Given the description of an element on the screen output the (x, y) to click on. 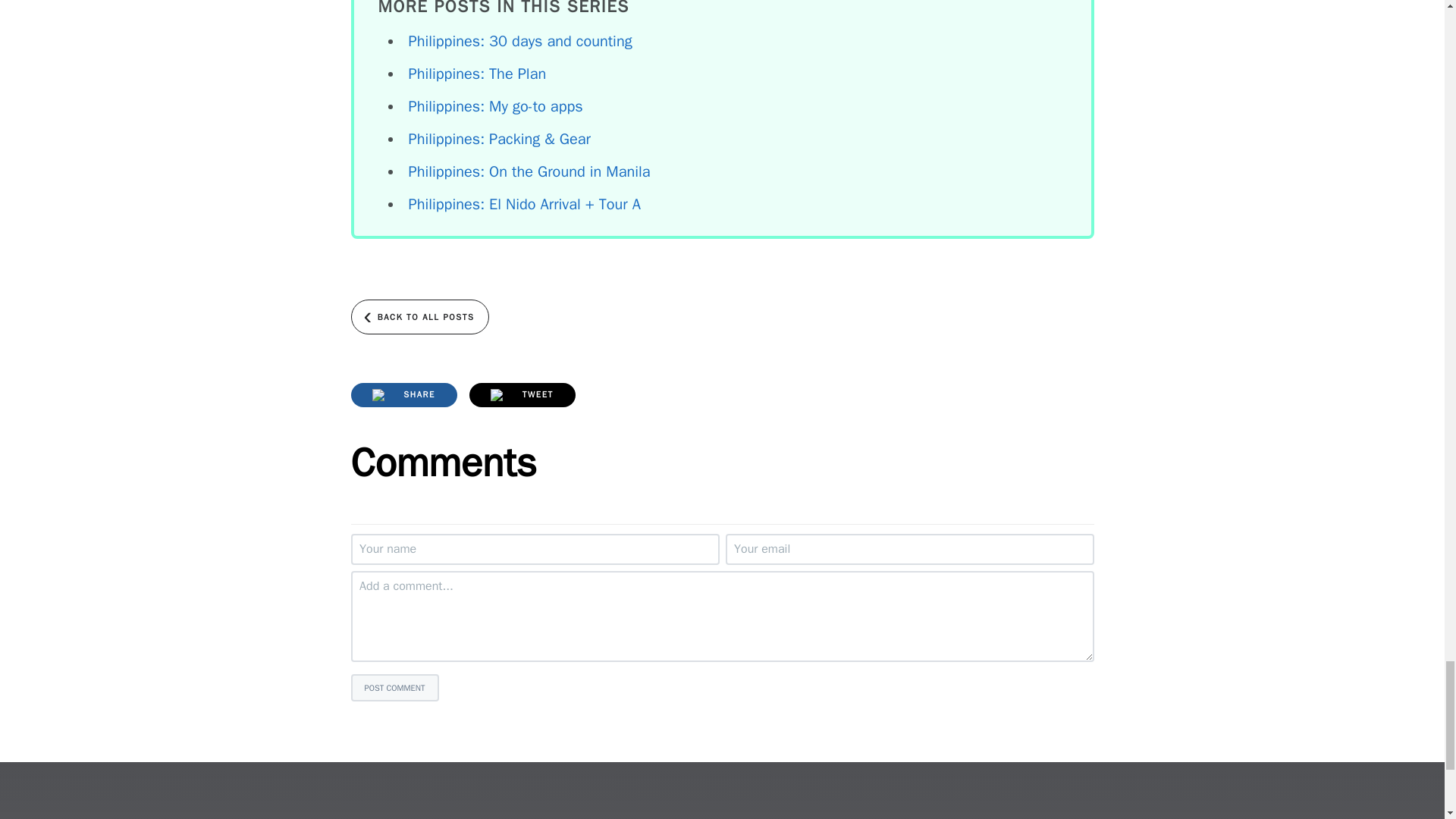
Philippines: My go-to apps (494, 106)
Philippines: 30 days and counting (519, 40)
Philippines: The Plan (476, 73)
BACK TO ALL POSTS (418, 316)
TWEET (521, 395)
Philippines: On the Ground in Manila (528, 171)
SHARE (403, 395)
POST COMMENT (394, 687)
